Given the description of an element on the screen output the (x, y) to click on. 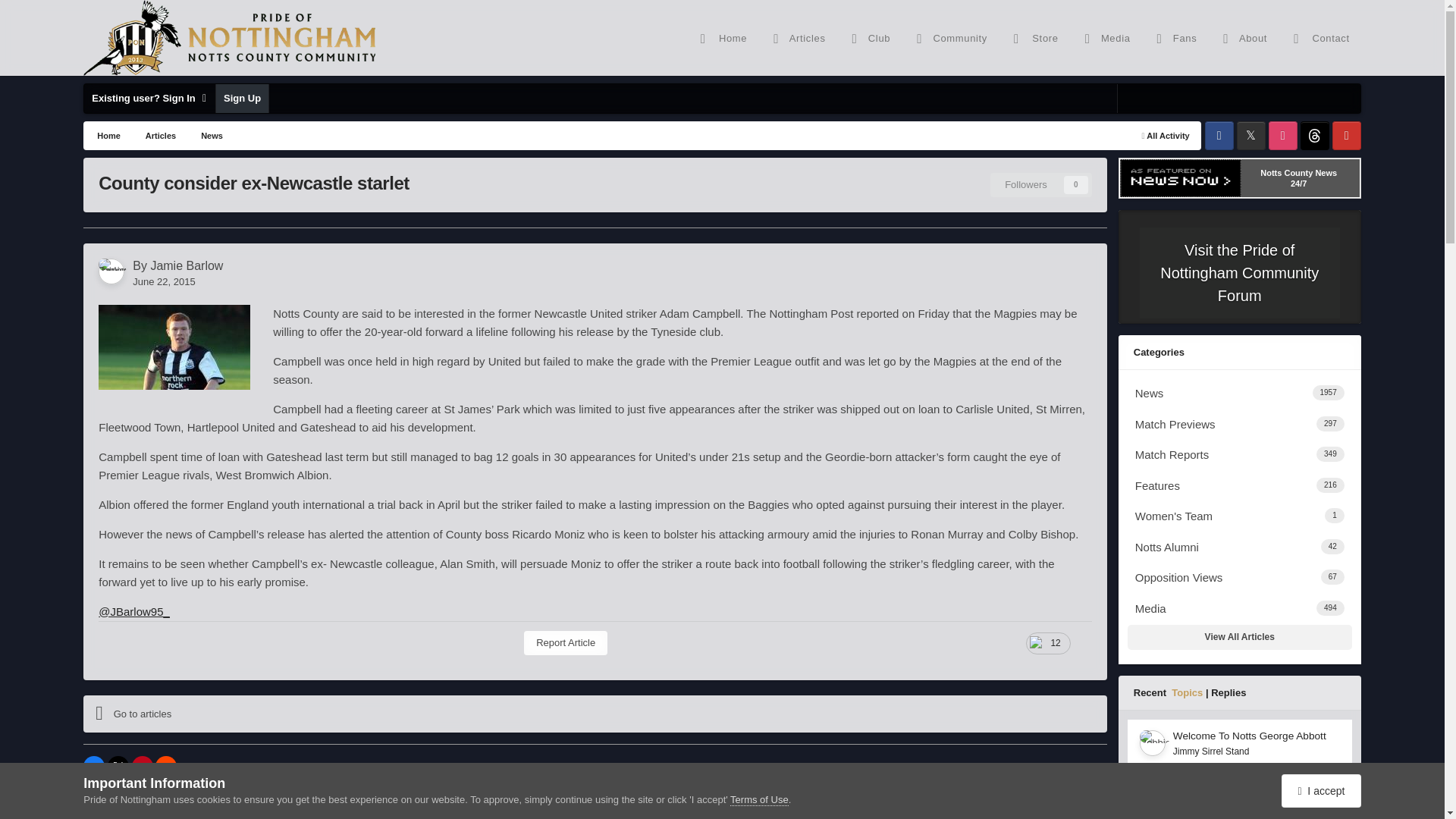
Go to Jamie Barlow's profile (111, 271)
Share on X (118, 766)
Community (949, 37)
Media (1105, 37)
Articles (796, 37)
Report Article (565, 642)
Store (1034, 37)
Share on Facebook (93, 766)
Like (1048, 643)
Share on Pinterest (142, 766)
